Given the description of an element on the screen output the (x, y) to click on. 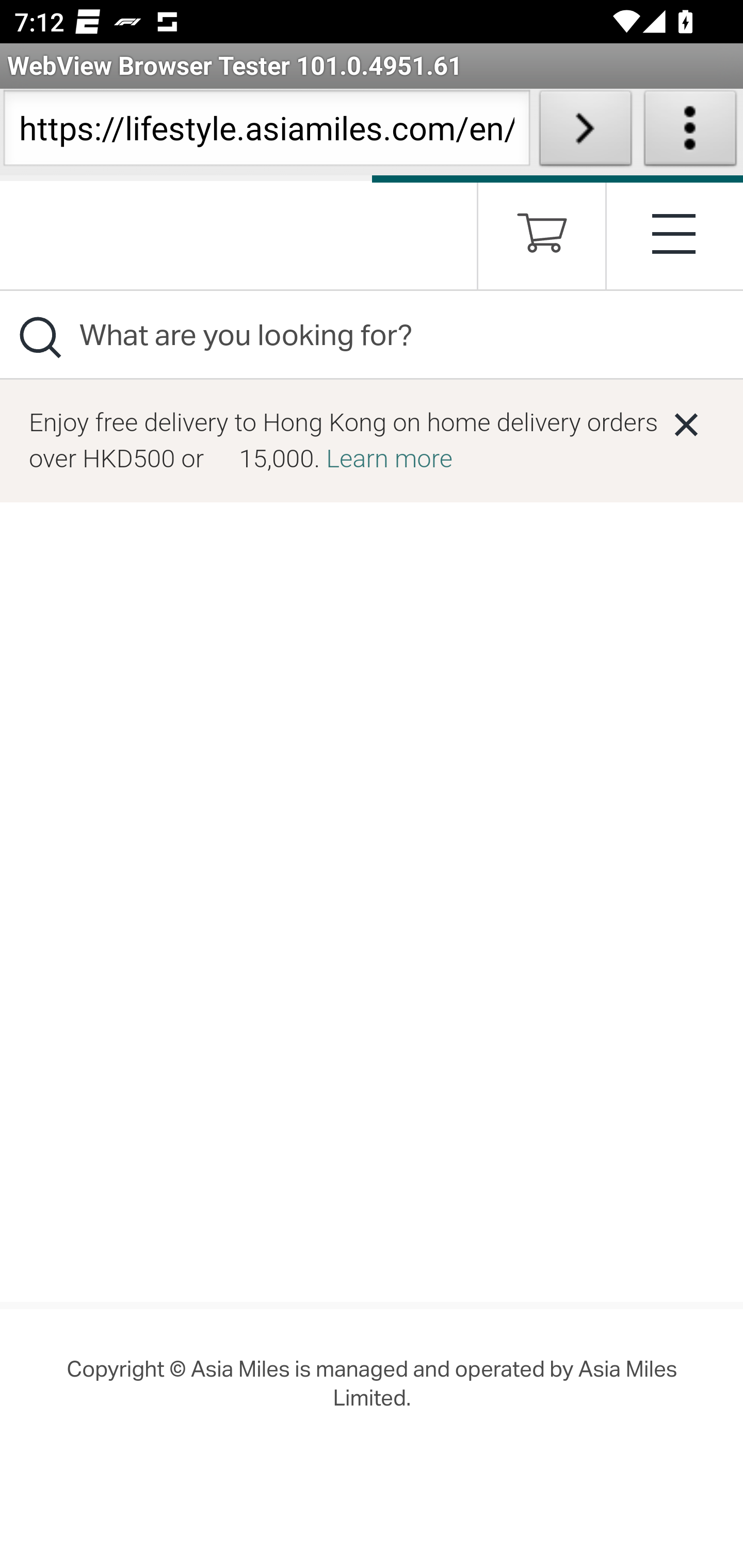
Load URL (585, 132)
About WebView (690, 132)
Mini cart (542, 240)
Menu (675, 232)
What are you looking for? (371, 334)
